Given the description of an element on the screen output the (x, y) to click on. 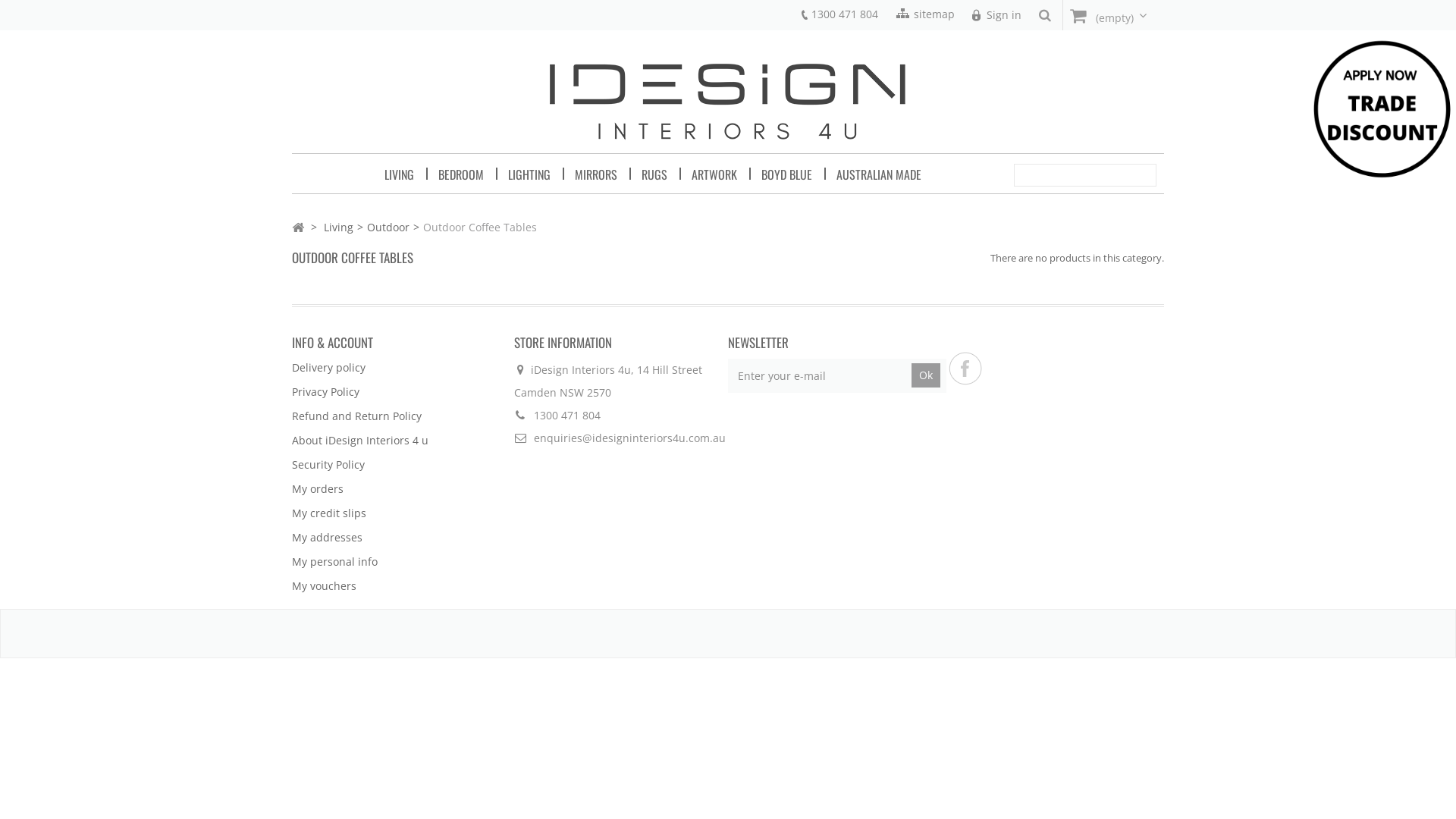
BEDROOM Element type: text (460, 173)
INFO & ACCOUNT Element type: text (332, 341)
sitemap Element type: text (933, 13)
Privacy Policy Element type: text (325, 391)
Sign in Element type: text (994, 15)
enquiries@idesigninteriors4u.com.au Element type: text (629, 437)
1300 471 804 Element type: text (844, 13)
Cart (empty) Element type: text (1113, 15)
Ok Element type: text (925, 375)
My personal info Element type: text (334, 561)
AUSTRALIAN MADE Element type: text (878, 173)
Delivery policy Element type: text (328, 367)
Outdoor Element type: text (388, 227)
My orders Element type: text (317, 488)
Living Element type: text (338, 227)
idesign interiors 4 u Element type: hover (727, 99)
Security Policy Element type: text (327, 464)
LIVING Element type: text (399, 173)
RUGS Element type: text (654, 173)
ARTWORK Element type: text (714, 173)
My addresses Element type: text (326, 537)
BOYD BLUE Element type: text (786, 173)
My vouchers Element type: text (323, 585)
About iDesign Interiors 4 u Element type: text (359, 440)
LIGHTING Element type: text (528, 173)
MIRRORS Element type: text (595, 173)
My credit slips Element type: text (328, 512)
Return to Home Element type: hover (297, 226)
Refund and Return Policy Element type: text (356, 415)
